Given the description of an element on the screen output the (x, y) to click on. 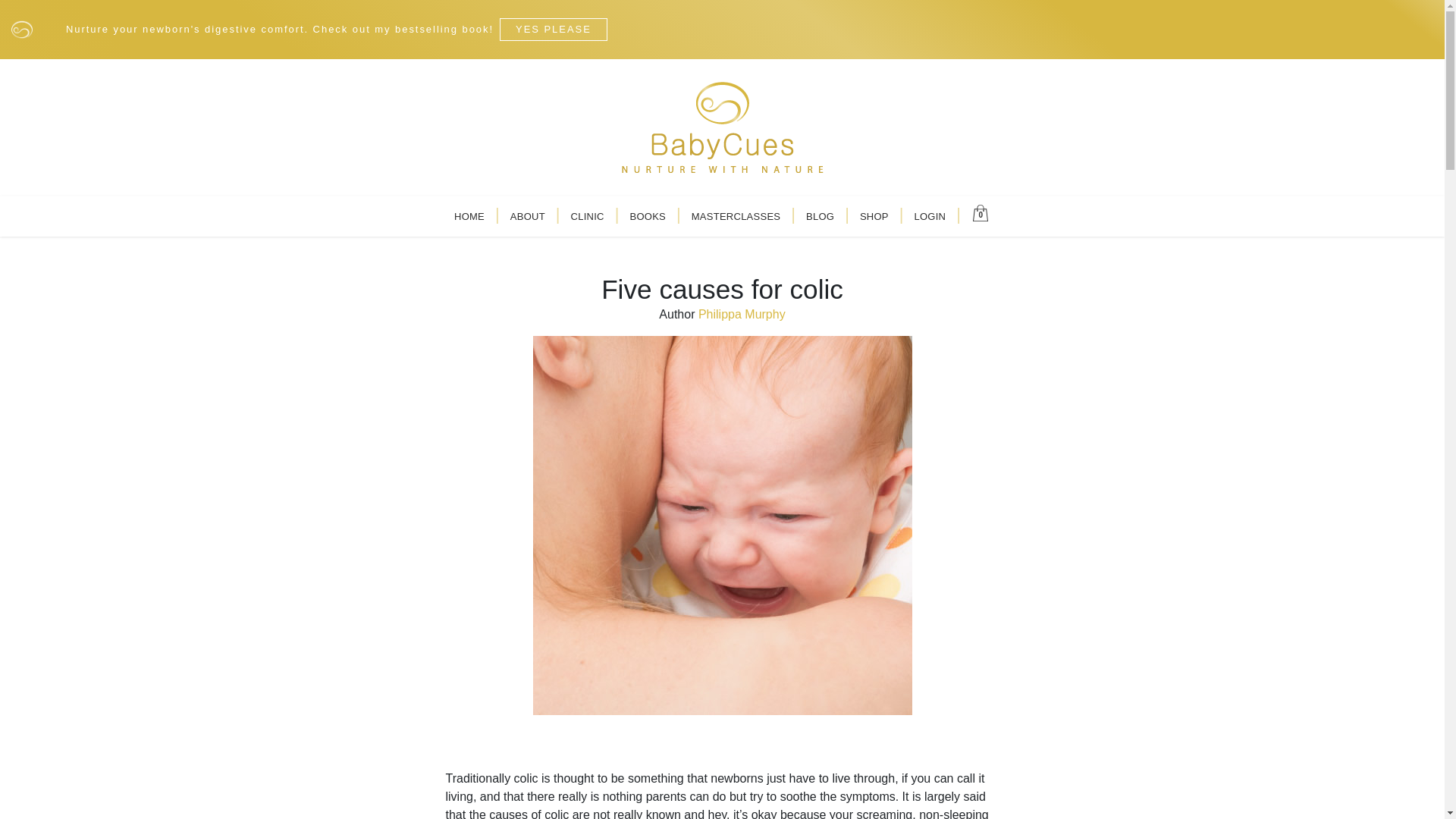
LOGIN (930, 215)
ABOUT (527, 215)
View the Home page (469, 215)
YES PLEASE (553, 29)
Philippa Murphy (742, 314)
CLINIC (587, 215)
0 (981, 210)
View the Clinic page (587, 215)
MASTERCLASSES (736, 215)
BOOKS (647, 215)
